Given the description of an element on the screen output the (x, y) to click on. 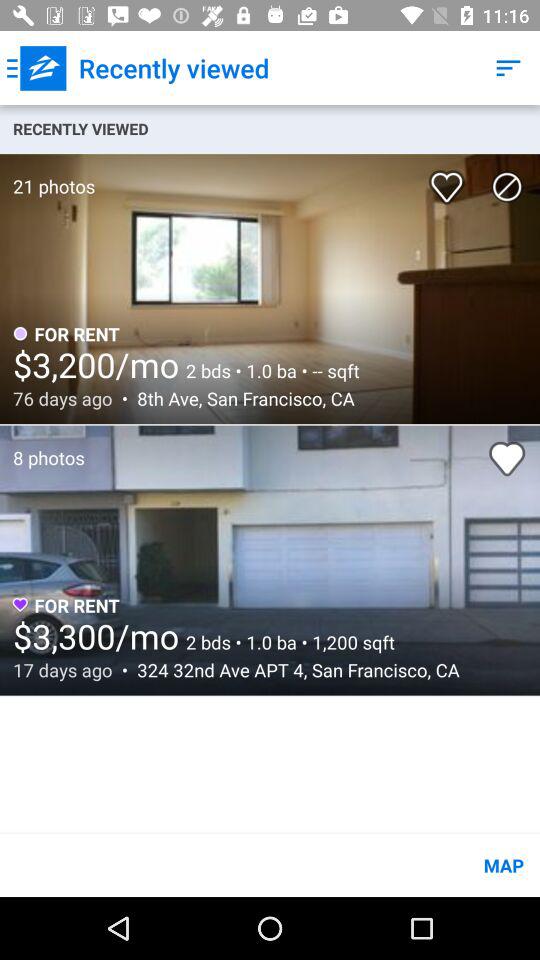
tap the item above the recently viewed item (508, 67)
